Given the description of an element on the screen output the (x, y) to click on. 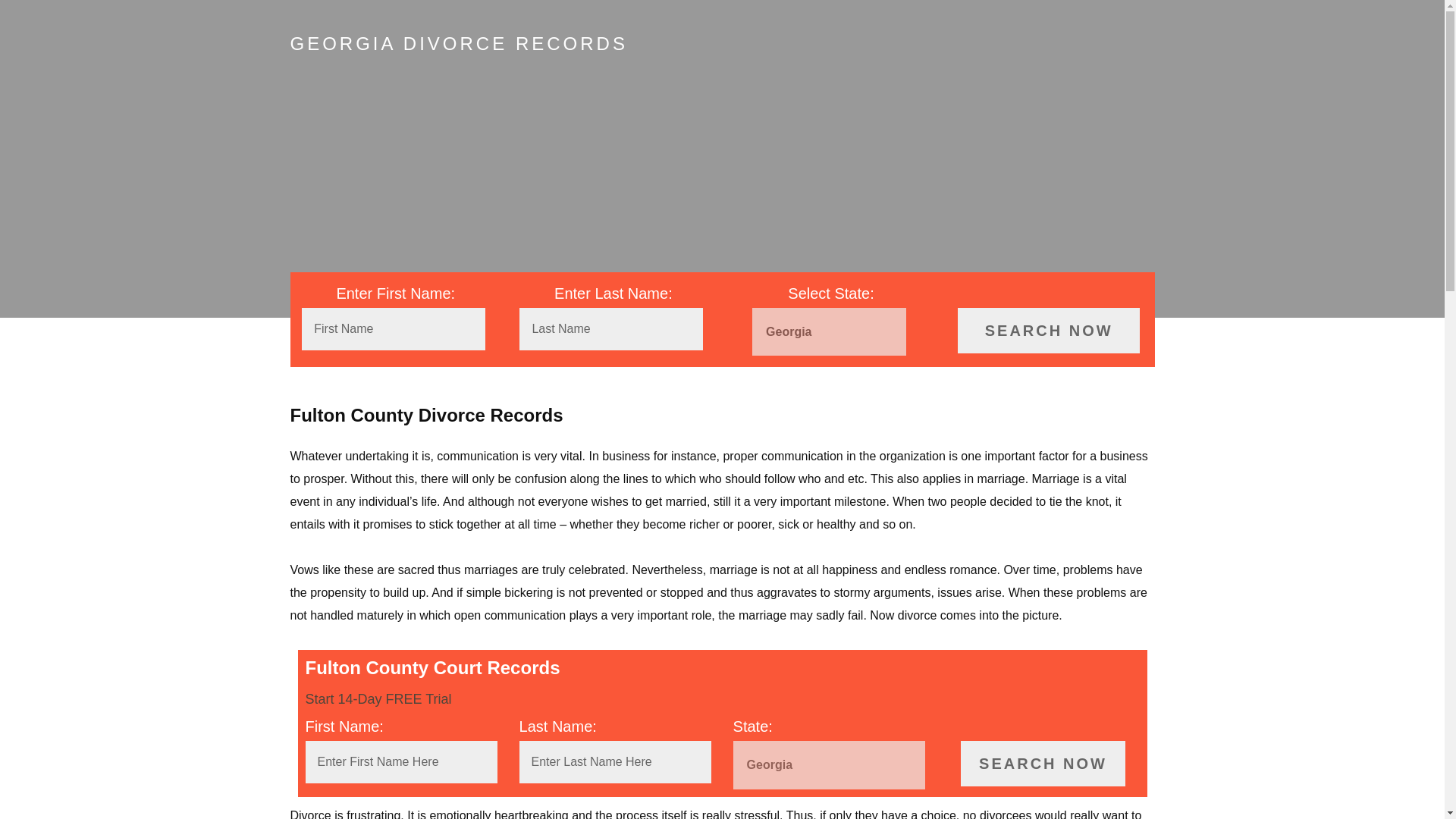
Search Now (1042, 763)
Search Now (1049, 329)
GEORGIA DIVORCE RECORDS (458, 43)
Search Now (1042, 763)
Search Now (1049, 329)
